Given the description of an element on the screen output the (x, y) to click on. 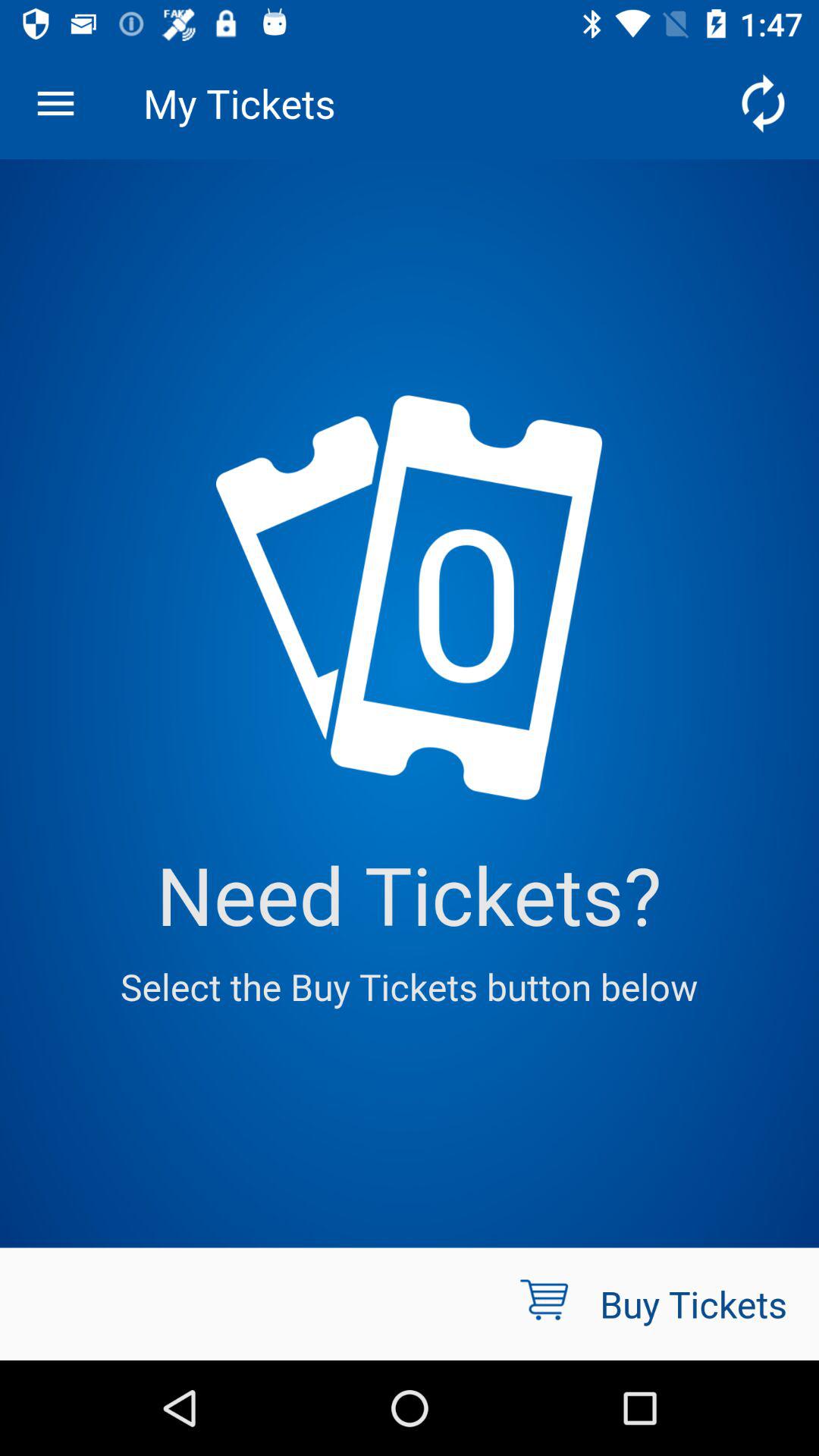
launch the icon next to the my tickets item (763, 103)
